Given the description of an element on the screen output the (x, y) to click on. 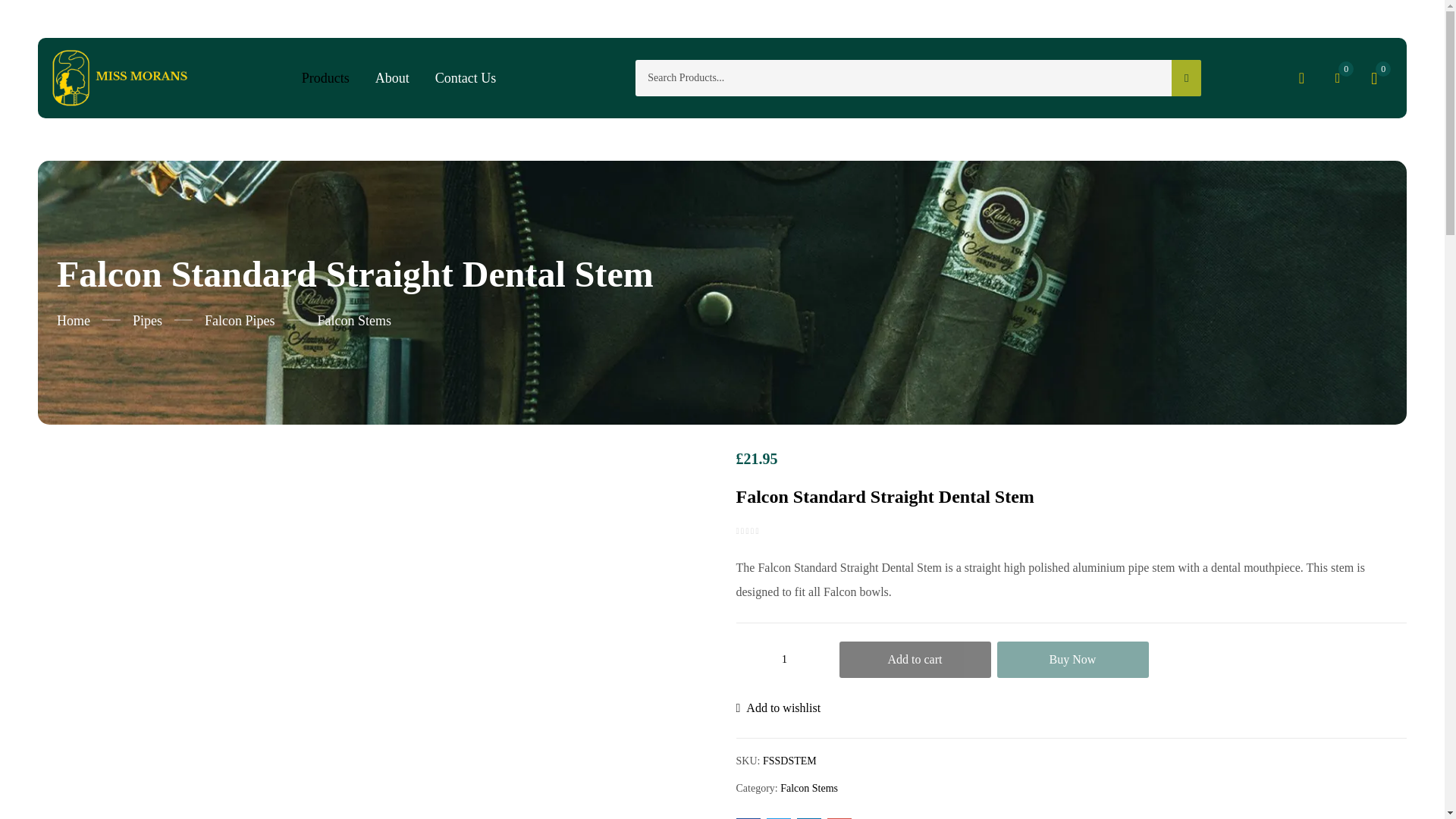
0 (1337, 77)
View your shopping cart (1373, 77)
0 (1373, 77)
1 (783, 659)
Pipes (146, 320)
Home (73, 320)
Wishlist (778, 708)
Falcon Pipes (240, 320)
